Given the description of an element on the screen output the (x, y) to click on. 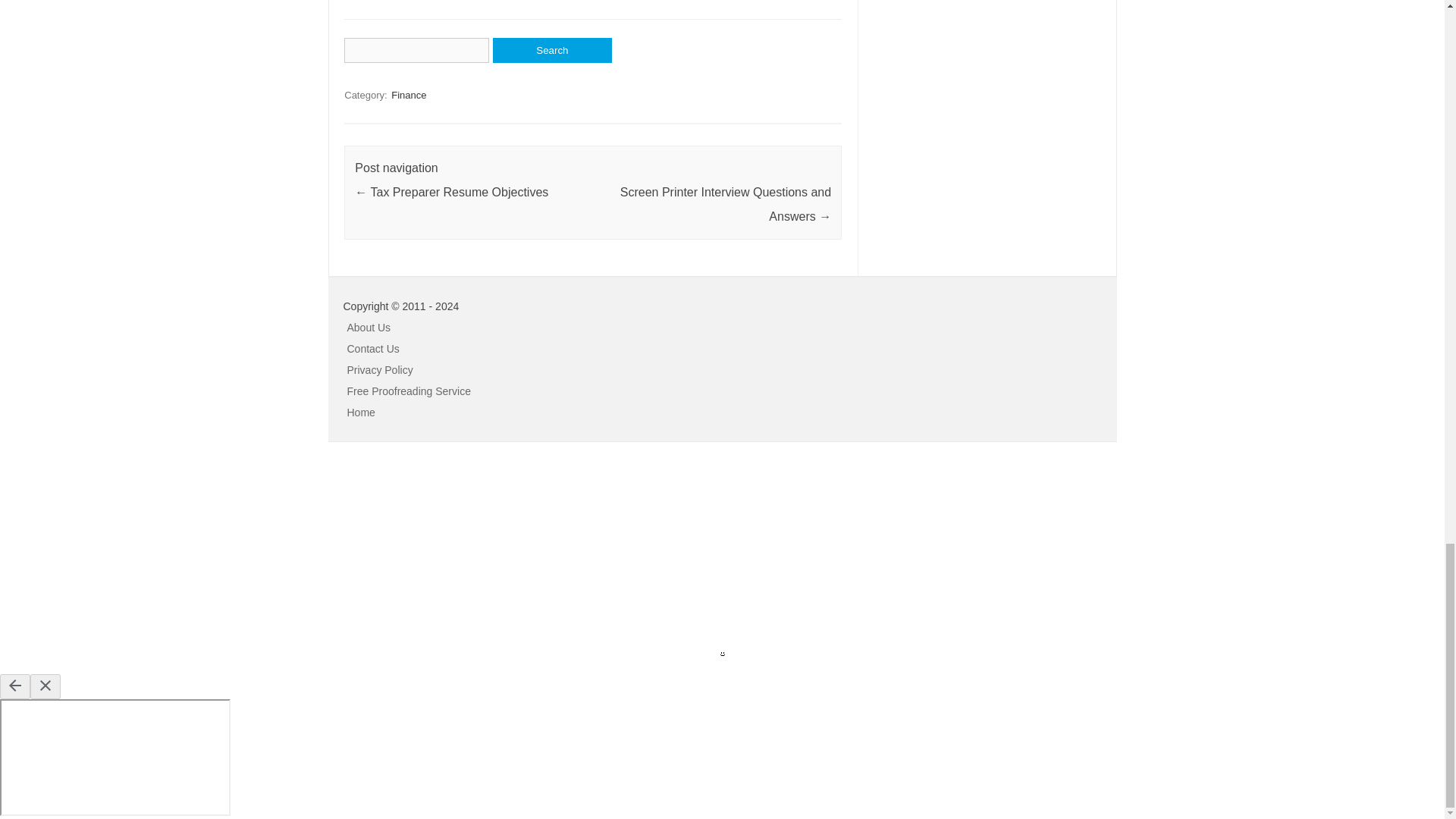
Search (552, 50)
Free Proofreading Service (408, 390)
About Us (369, 327)
Home (361, 412)
Contact Us (372, 348)
Finance (409, 94)
Advertisement (113, 555)
Search (552, 50)
Privacy Policy (380, 369)
